Given the description of an element on the screen output the (x, y) to click on. 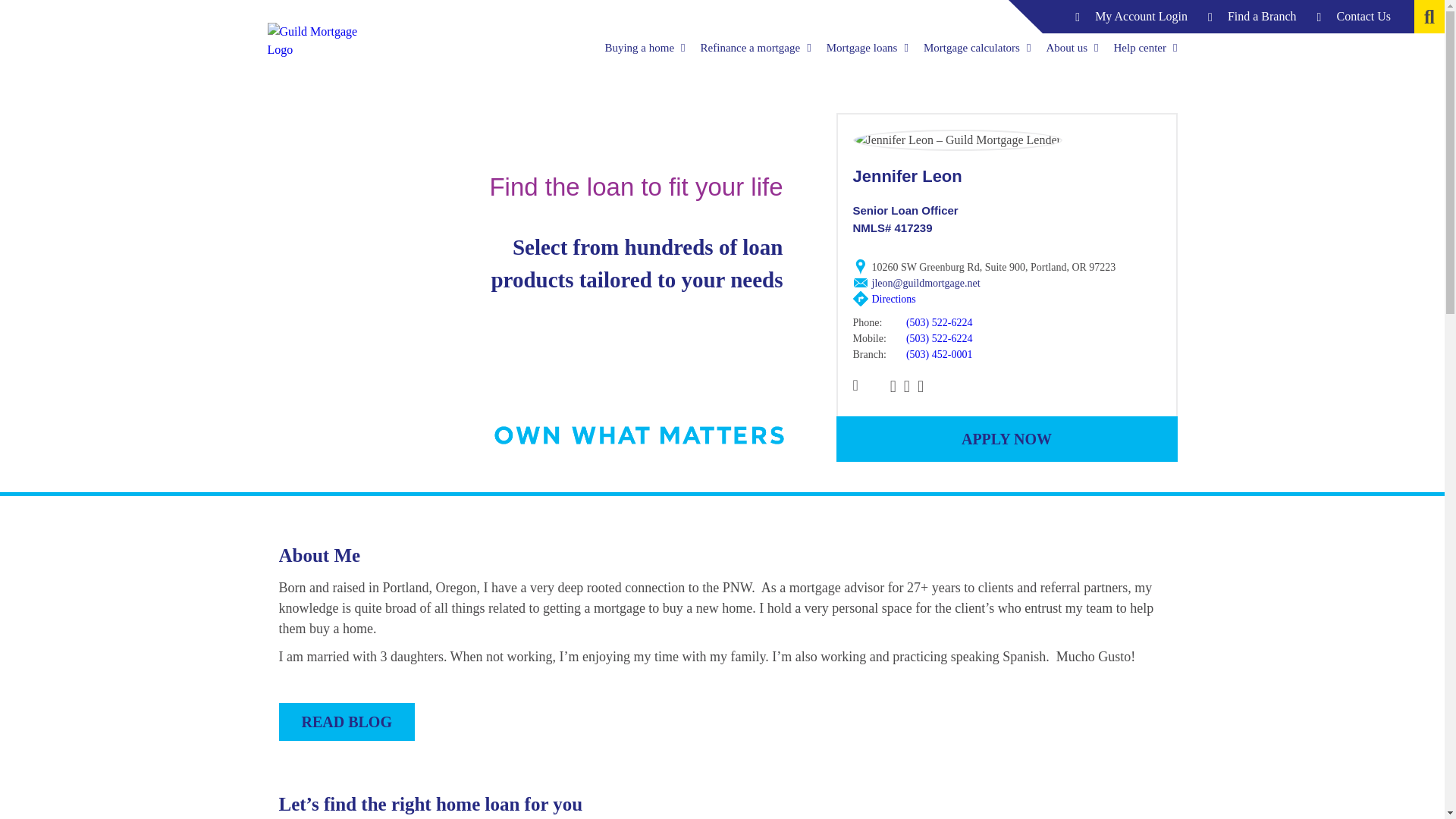
Find a Branch (1252, 16)
My Account Login (1130, 16)
Refinance a mortgage (755, 47)
Mortgage loans (867, 47)
Apply Now (1005, 438)
Get directions to Jennifer Leon (893, 298)
Buying a home (644, 47)
Contact Us (1353, 16)
read blog (346, 721)
